Given the description of an element on the screen output the (x, y) to click on. 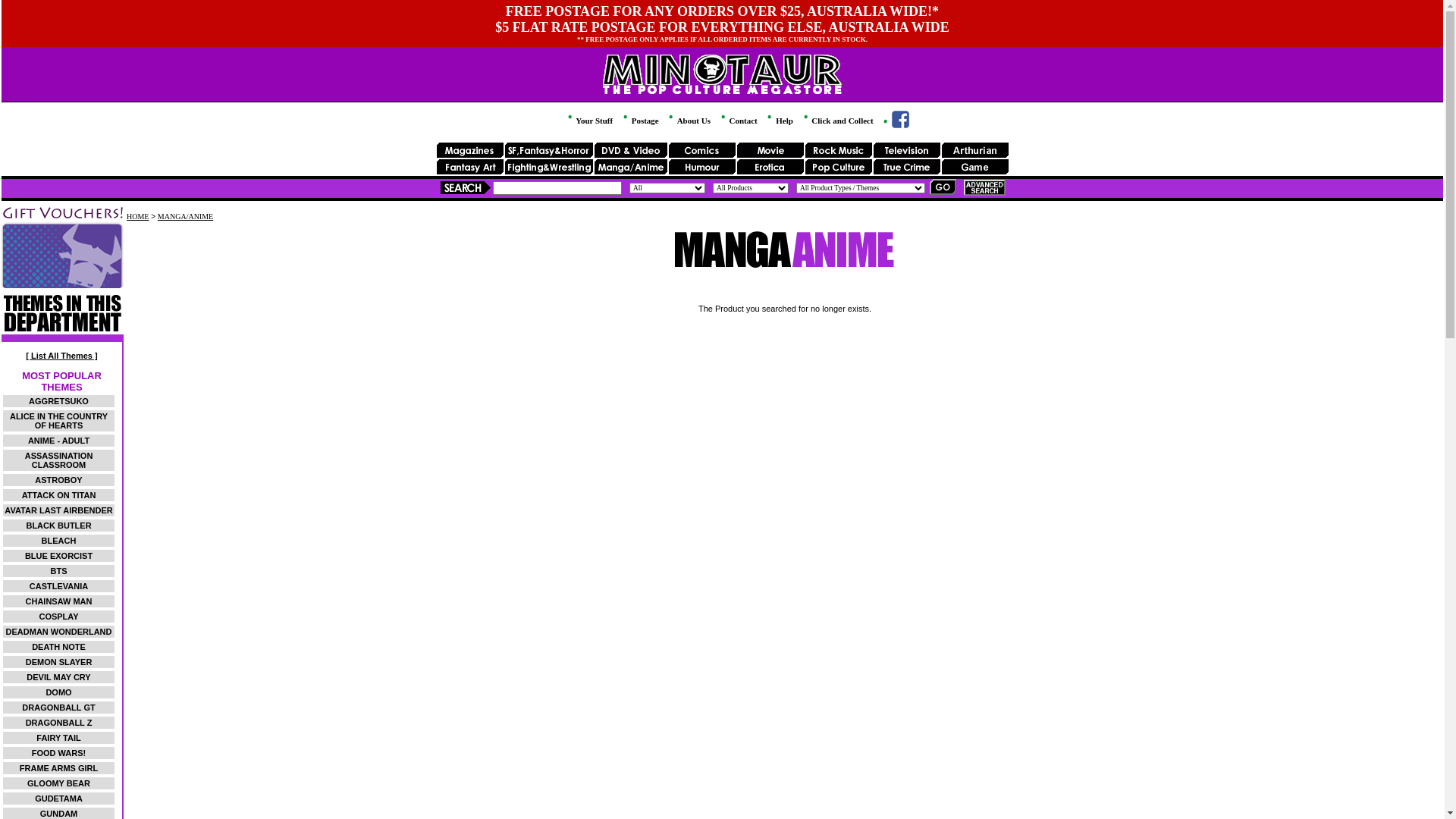
[ List All Themes ] Element type: text (61, 355)
ANIME - ADULT Element type: text (58, 440)
BTS Element type: text (58, 570)
ASSASSINATION CLASSROOM Element type: text (59, 460)
 About Us Element type: text (688, 120)
GUNDAM Element type: text (59, 813)
FOOD WARS! Element type: text (58, 752)
DEADMAN WONDERLAND Element type: text (59, 631)
BLUE EXORCIST Element type: text (58, 555)
DRAGONBALL GT Element type: text (57, 707)
 Contact Element type: text (738, 120)
 Click and Collect Element type: text (837, 120)
AVATAR LAST AIRBENDER Element type: text (58, 509)
AGGRETSUKO Element type: text (58, 400)
COSPLAY Element type: text (58, 616)
FRAME ARMS GIRL Element type: text (58, 767)
BLEACH Element type: text (58, 540)
GLOOMY BEAR Element type: text (58, 782)
Minotaur Entertainment - The Pop Culture Megastore Element type: hover (721, 69)
MANGA/ANIME Element type: text (185, 216)
 Help Element type: text (778, 120)
  Element type: text (894, 124)
DEVIL MAY CRY Element type: text (58, 676)
CASTLEVANIA Element type: text (58, 585)
ATTACK ON TITAN Element type: text (58, 494)
ALICE IN THE COUNTRY OF HEARTS Element type: text (58, 420)
DEATH NOTE Element type: text (58, 646)
 Your Stuff Element type: text (589, 120)
 Postage Element type: text (639, 120)
FAIRY TAIL Element type: text (58, 737)
CHAINSAW MAN Element type: text (58, 600)
HOME Element type: text (137, 216)
DEMON SLAYER Element type: text (58, 661)
BLACK BUTLER Element type: text (58, 525)
ASTROBOY Element type: text (57, 479)
DRAGONBALL Z Element type: text (58, 722)
GUDETAMA Element type: text (58, 798)
Minotaur Entertainment - The Pop Culture Megastore Element type: hover (721, 89)
DOMO Element type: text (58, 691)
Find us on Facebook Element type: hover (894, 124)
